Given the description of an element on the screen output the (x, y) to click on. 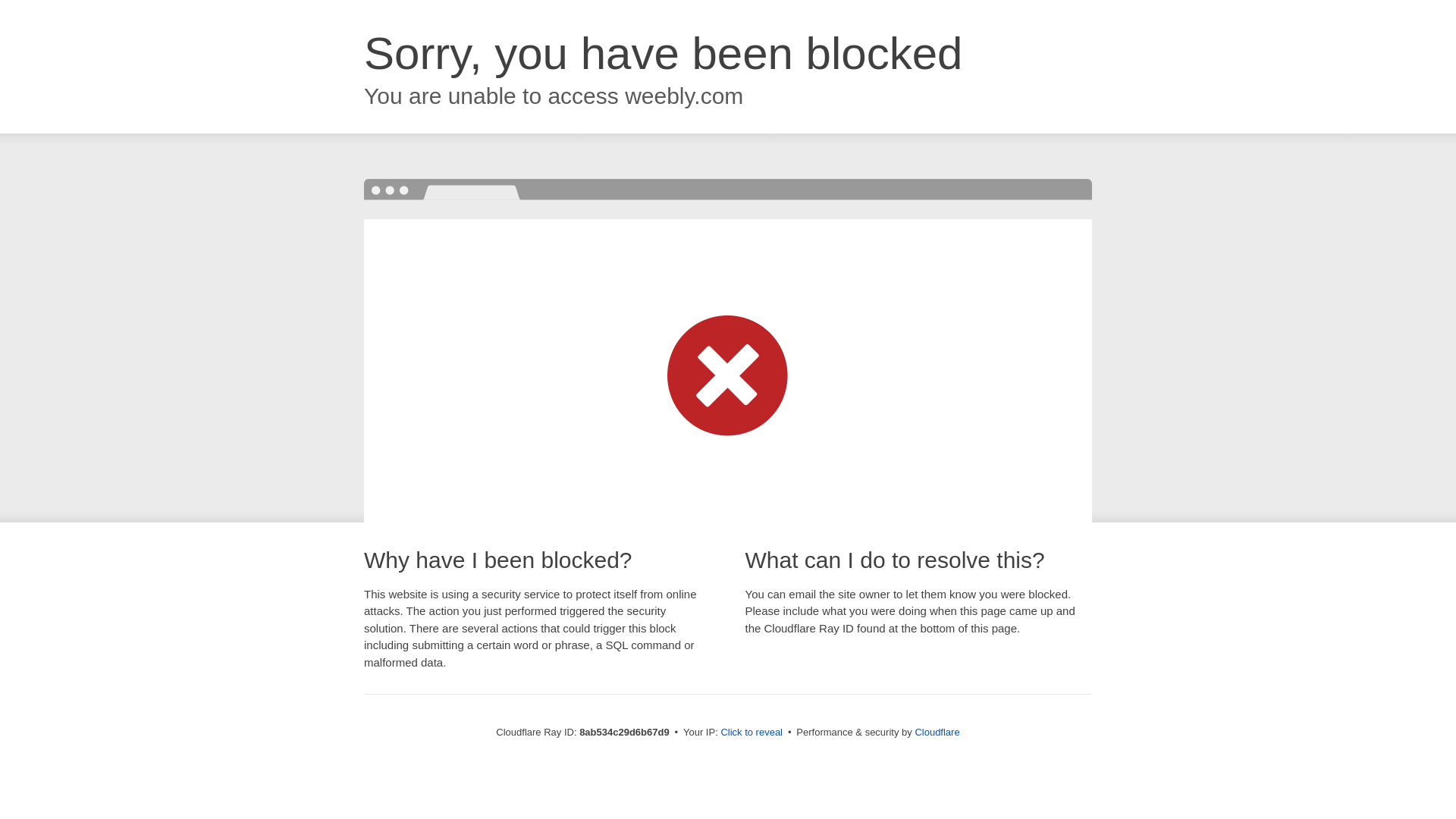
Click to reveal (751, 732)
Cloudflare (936, 731)
